Given the description of an element on the screen output the (x, y) to click on. 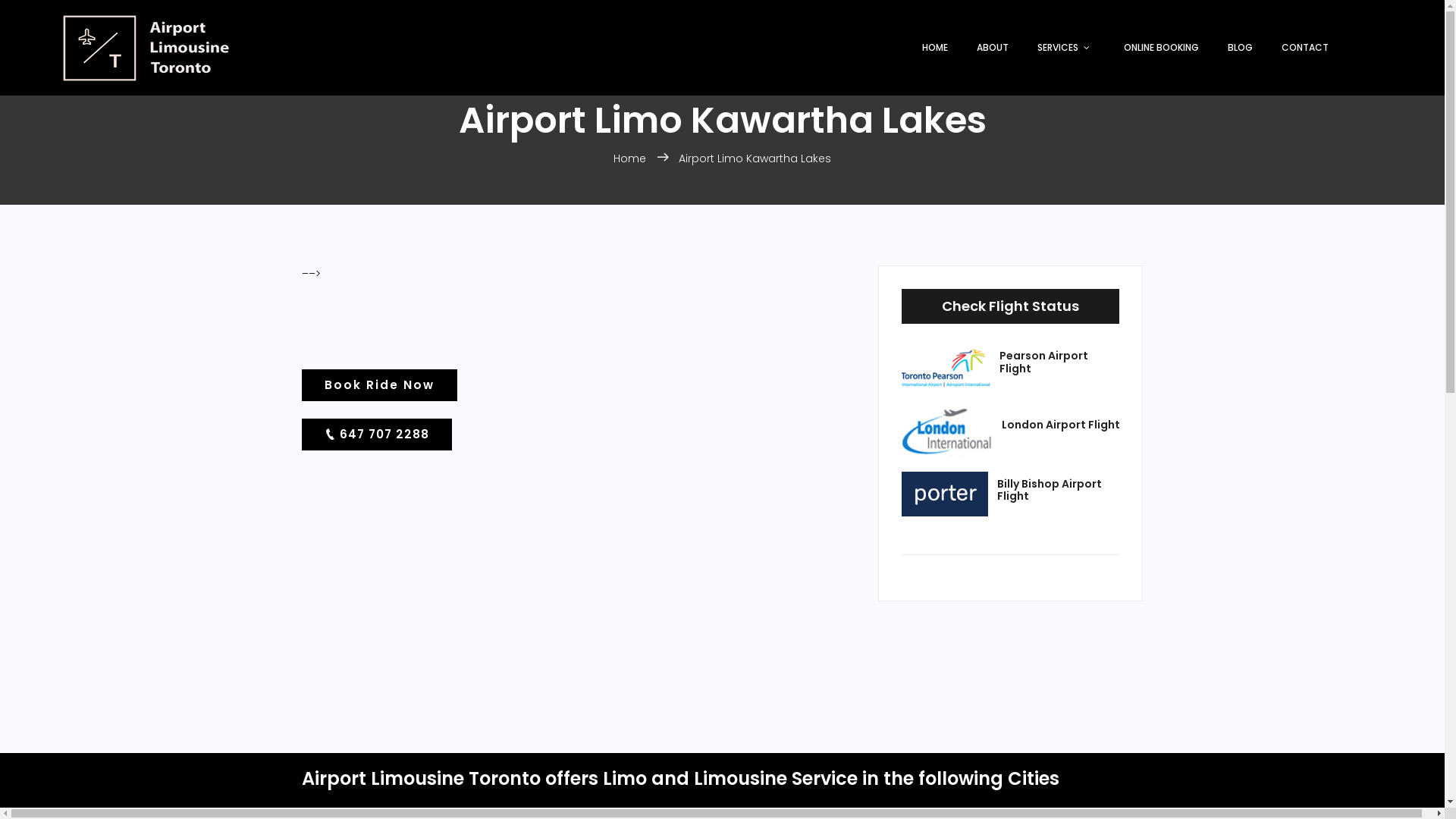
647 707 2288 Element type: text (376, 434)
ONLINE BOOKING Element type: text (1156, 47)
Airport Limo Kawartha Lakes Element type: text (754, 158)
London Airport Flight Element type: text (1060, 424)
Home Element type: text (631, 158)
BLOG Element type: text (1235, 47)
ABOUT Element type: text (987, 47)
HOME Element type: text (929, 47)
Book Ride Now Element type: text (379, 385)
SERVICES Element type: text (1061, 47)
Airport Limousine Toronto Element type: hover (145, 47)
CONTACT Element type: text (1300, 47)
Billy Bishop Airport Flight Element type: text (1058, 490)
Pearson Airport Flight Element type: text (1059, 362)
